Given the description of an element on the screen output the (x, y) to click on. 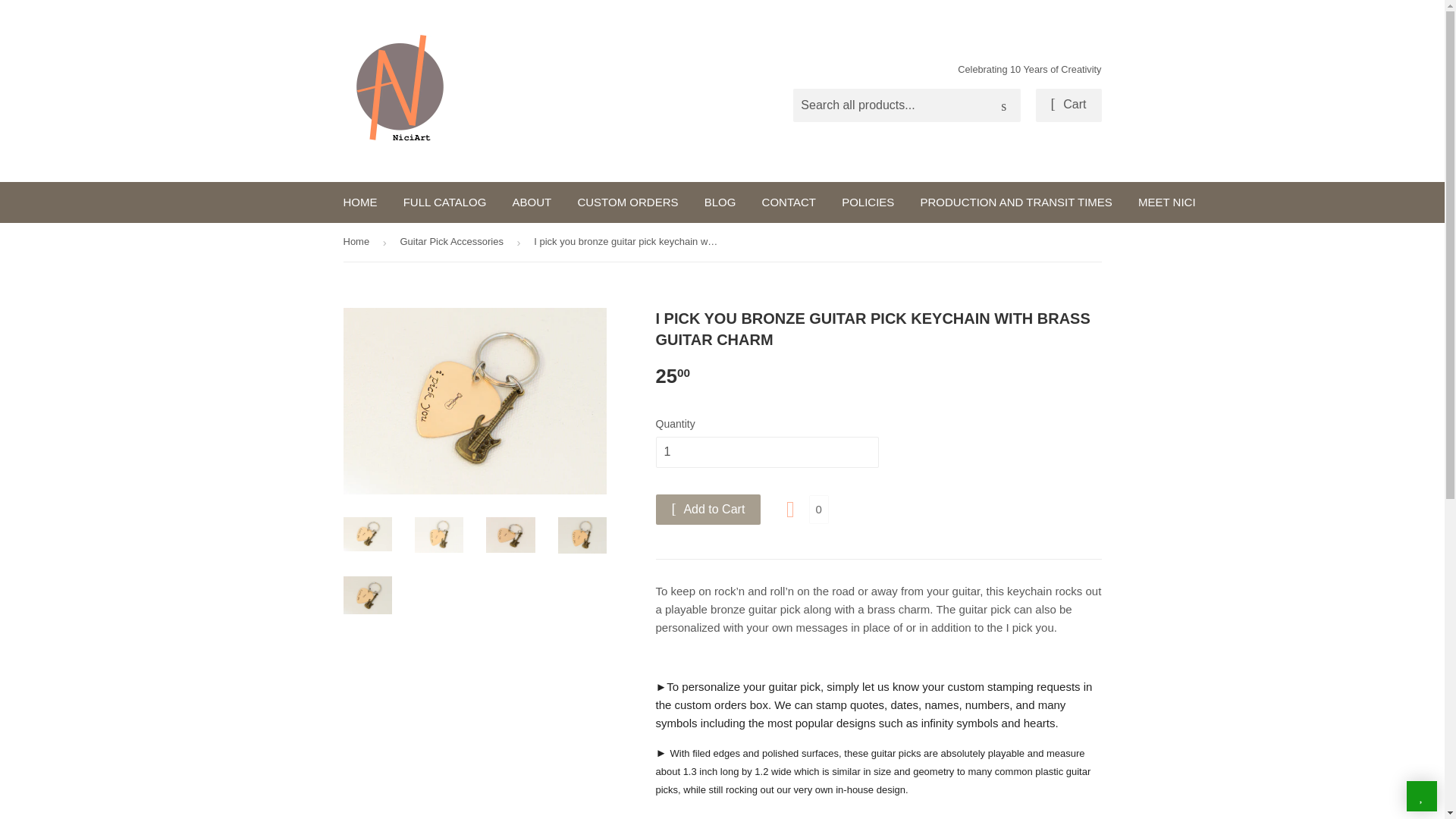
Guitar Pick Accessories (453, 241)
Add to Cart (707, 509)
Cart (1068, 105)
ABOUT (531, 201)
BLOG (720, 201)
MEET NICI (1166, 201)
HOME (359, 201)
1 (766, 451)
CUSTOM ORDERS (627, 201)
POLICIES (867, 201)
FULL CATALOG (444, 201)
Search (1003, 106)
PRODUCTION AND TRANSIT TIMES (1015, 201)
CONTACT (789, 201)
